Given the description of an element on the screen output the (x, y) to click on. 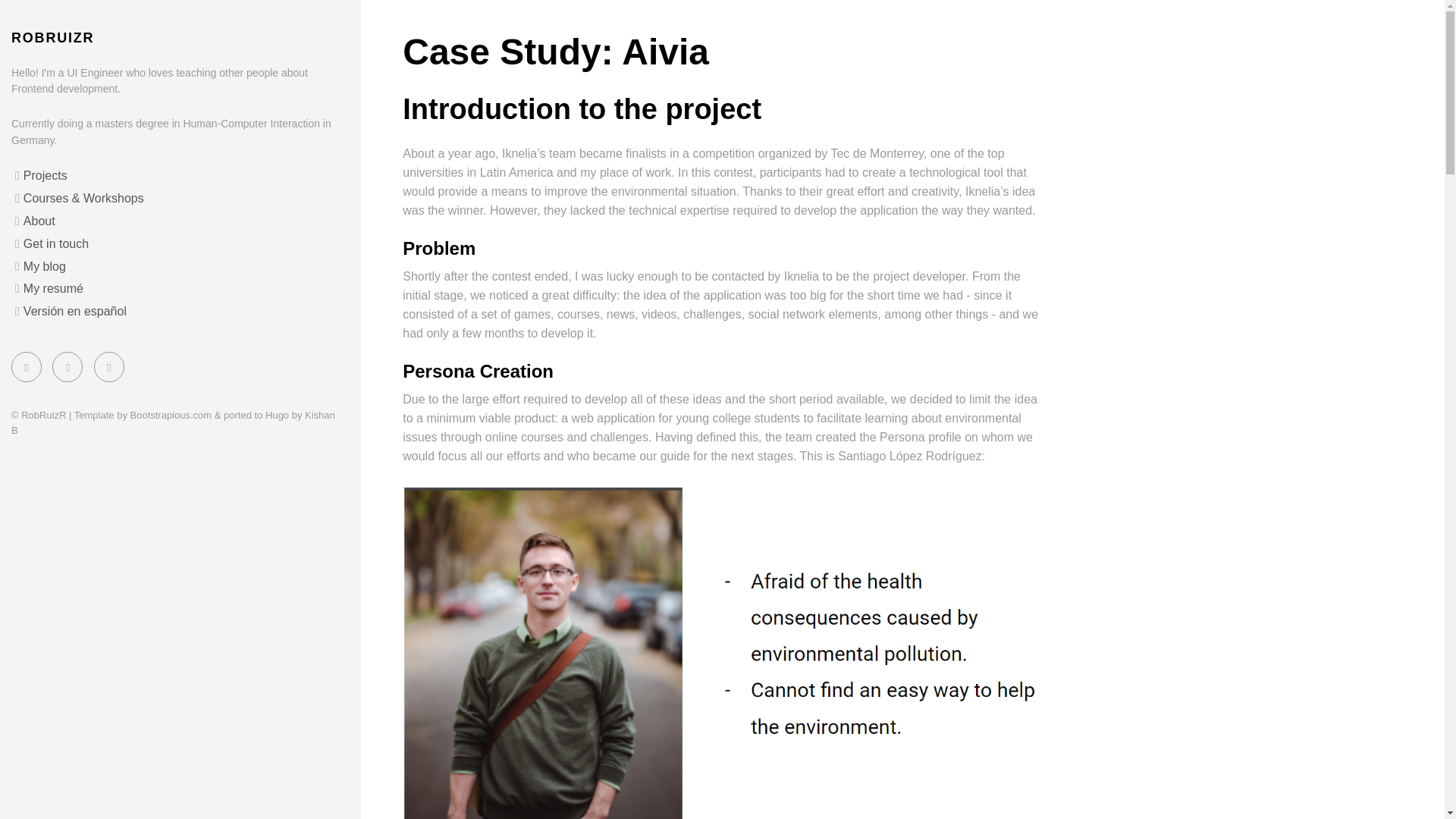
Projects (44, 174)
My blog (44, 266)
Bootstrapious.com (171, 414)
Kishan B (172, 422)
ROBRUIZR (52, 37)
About (39, 220)
Get in touch (55, 243)
